Given the description of an element on the screen output the (x, y) to click on. 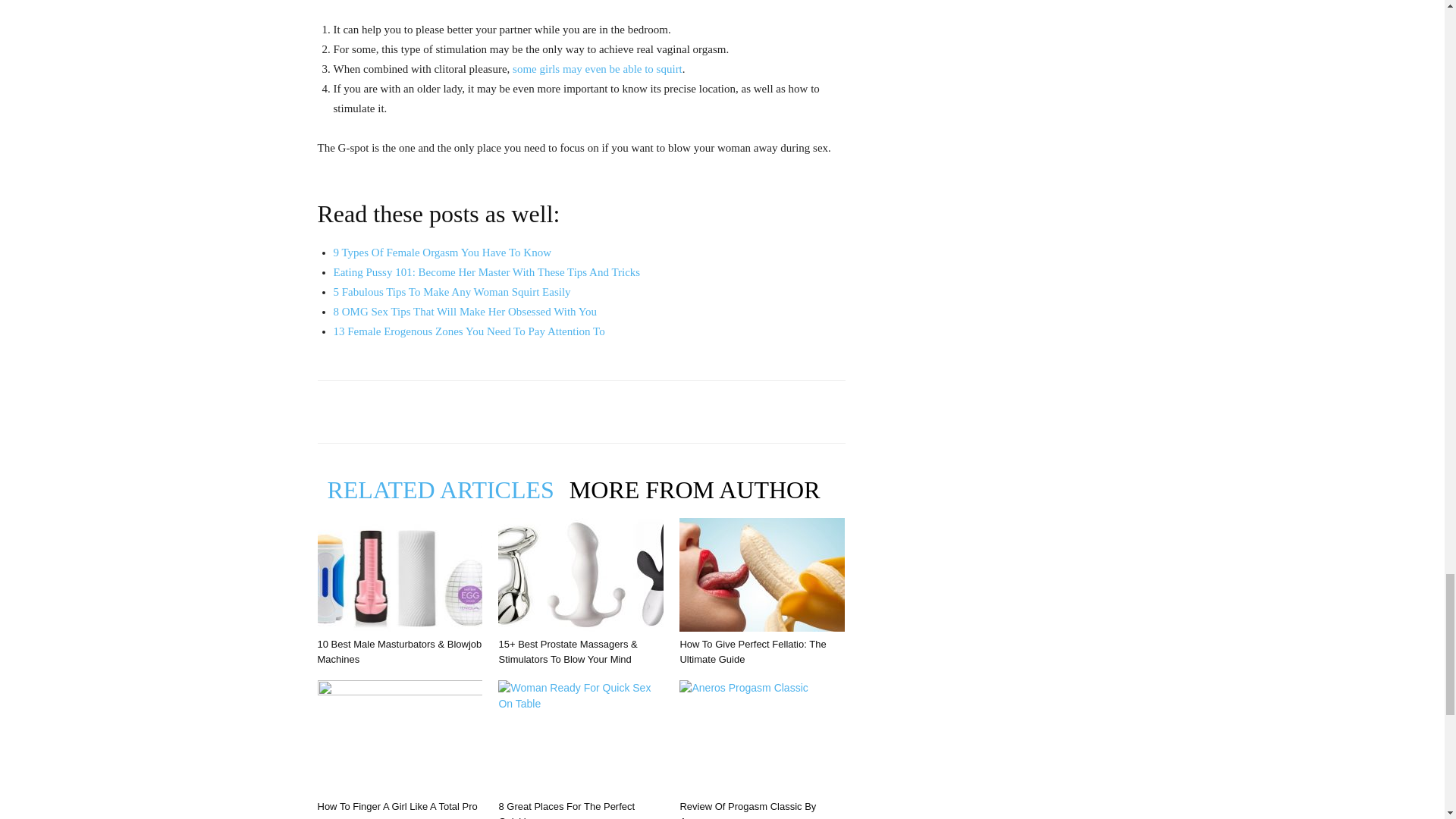
How to Finger a Girl Like a Total Pro (399, 736)
How to Finger a Girl Like a Total Pro (397, 806)
some girls may even be able to squirt (597, 69)
5 Fabulous Tips To Make Any Woman Squirt Easily (451, 291)
How to Give Perfect Fellatio: The Ultimate Guide (752, 651)
How to Give Perfect Fellatio: The Ultimate Guide (761, 574)
9 Types Of Female Orgasm You Have To Know (442, 252)
8 OMG Sex Tips That Will Make Her Obsessed With You (464, 311)
